Given the description of an element on the screen output the (x, y) to click on. 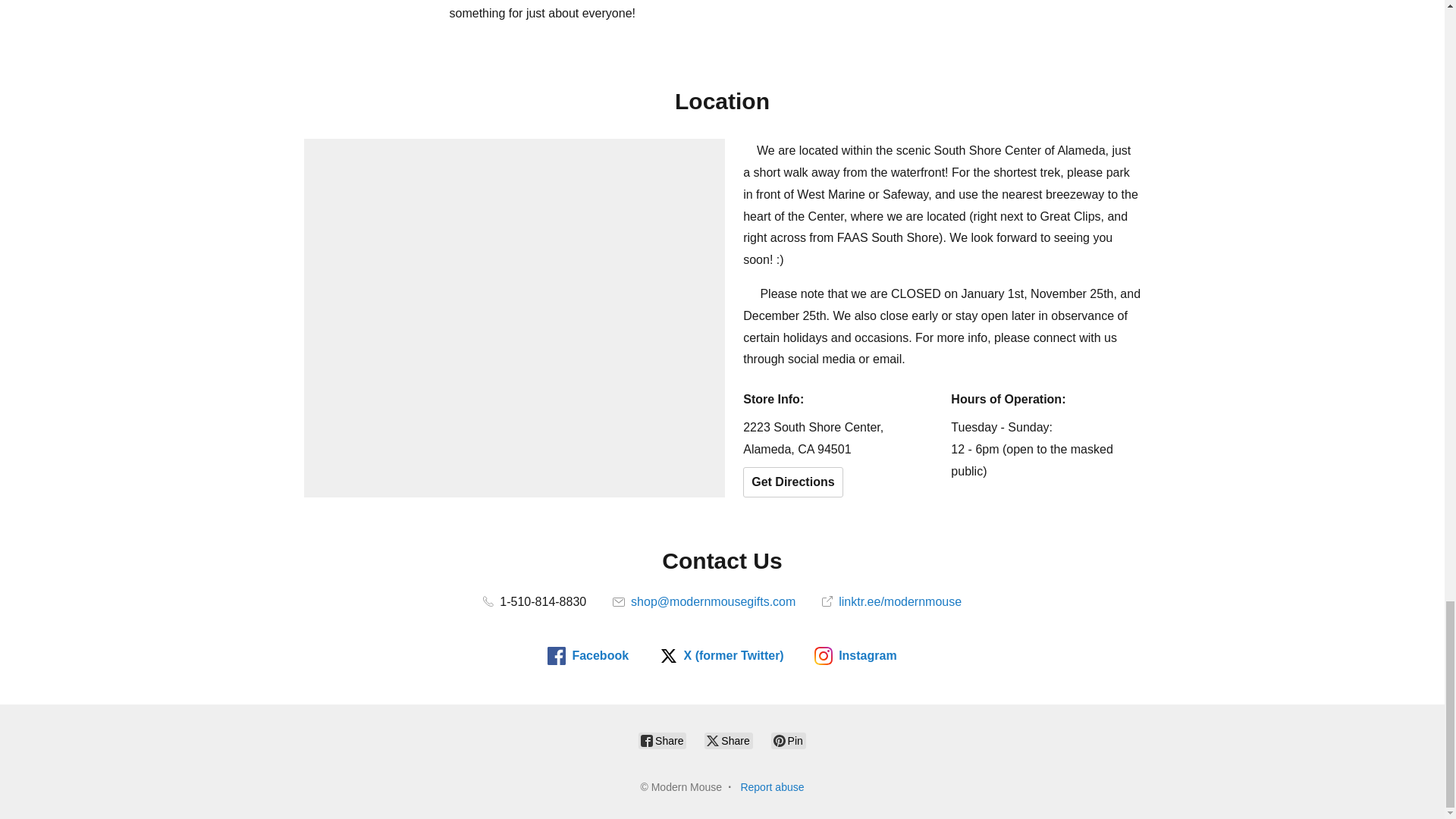
Share (728, 740)
Share (662, 740)
Facebook (587, 656)
1-510-814-8830 (534, 601)
Instagram (854, 656)
Pin (788, 740)
Report abuse (771, 787)
Get Directions (792, 481)
